Given the description of an element on the screen output the (x, y) to click on. 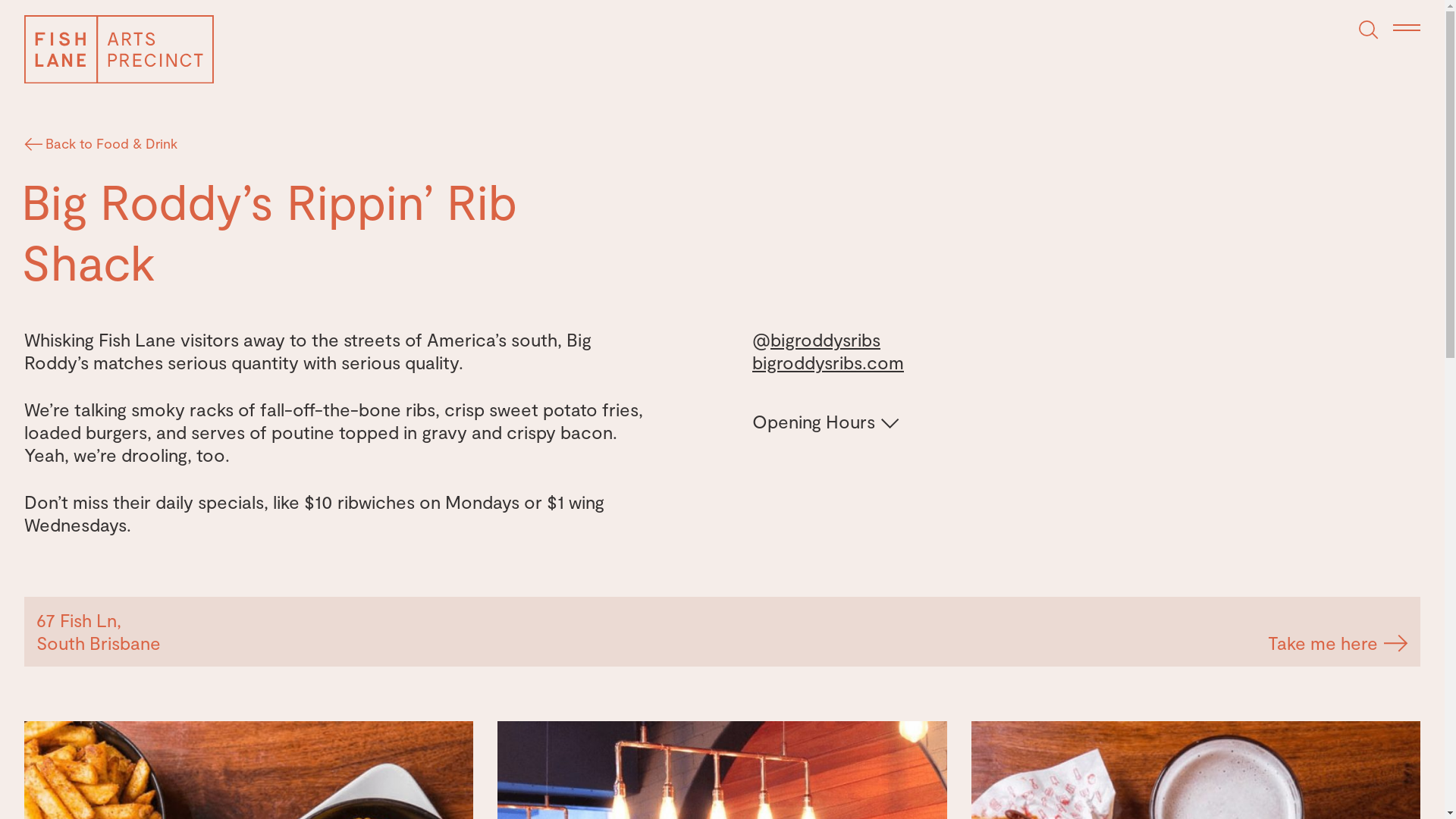
Fish Lane Arts Precint Element type: text (118, 49)
Search Element type: text (1368, 30)
Back to Food & Drink Element type: text (102, 142)
bigroddysribs.com Element type: text (827, 362)
Take me here Element type: text (1337, 642)
bigroddysribs Element type: text (825, 339)
